Given the description of an element on the screen output the (x, y) to click on. 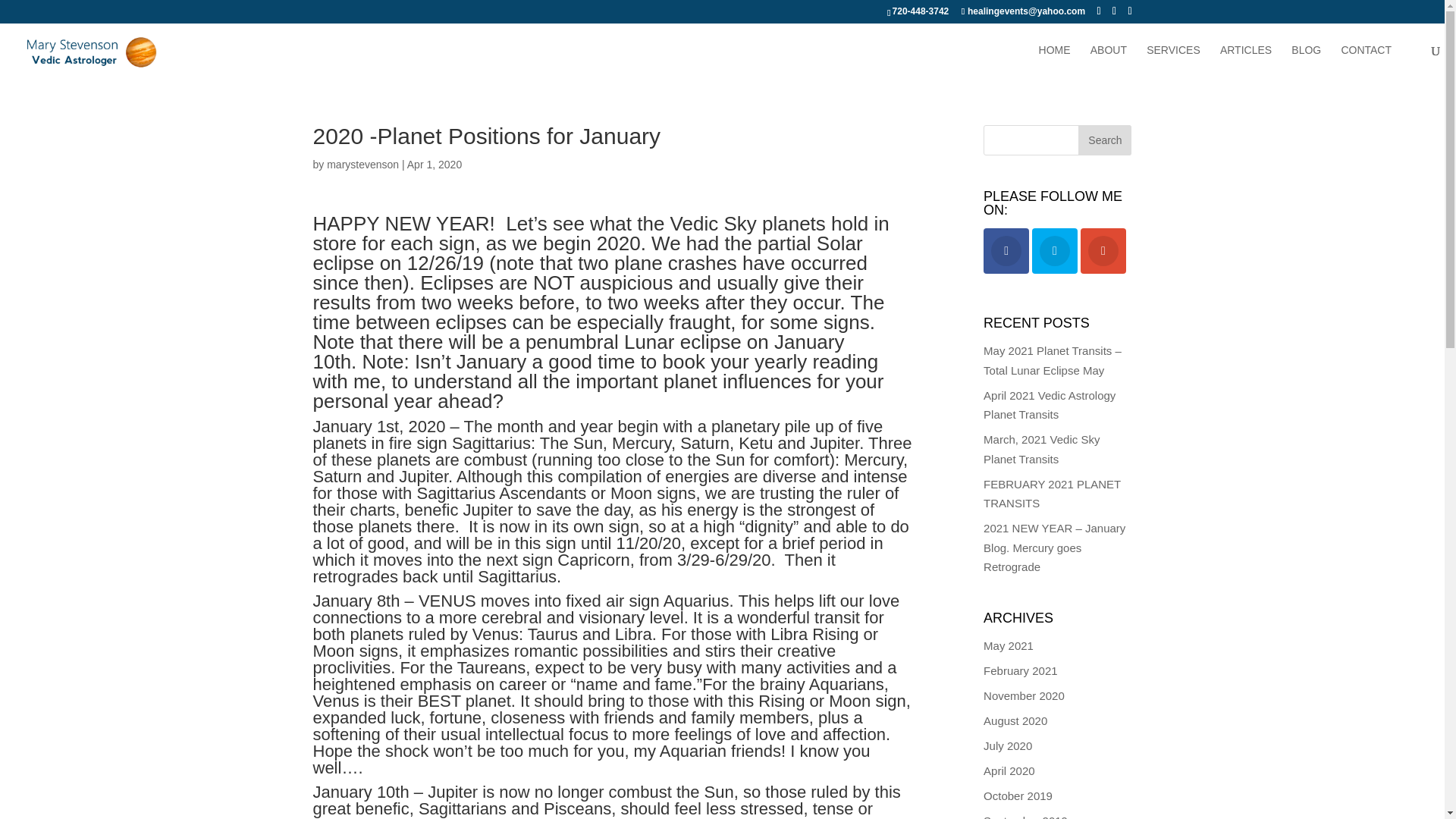
May 2021 (1008, 645)
Search (1104, 140)
March, 2021 Vedic Sky Planet Transits (1041, 449)
ARTICLES (1245, 60)
BLOG (1305, 60)
Search (1104, 140)
SERVICES (1173, 60)
marystevenson (362, 164)
HOME (1054, 60)
November 2020 (1024, 695)
